Given the description of an element on the screen output the (x, y) to click on. 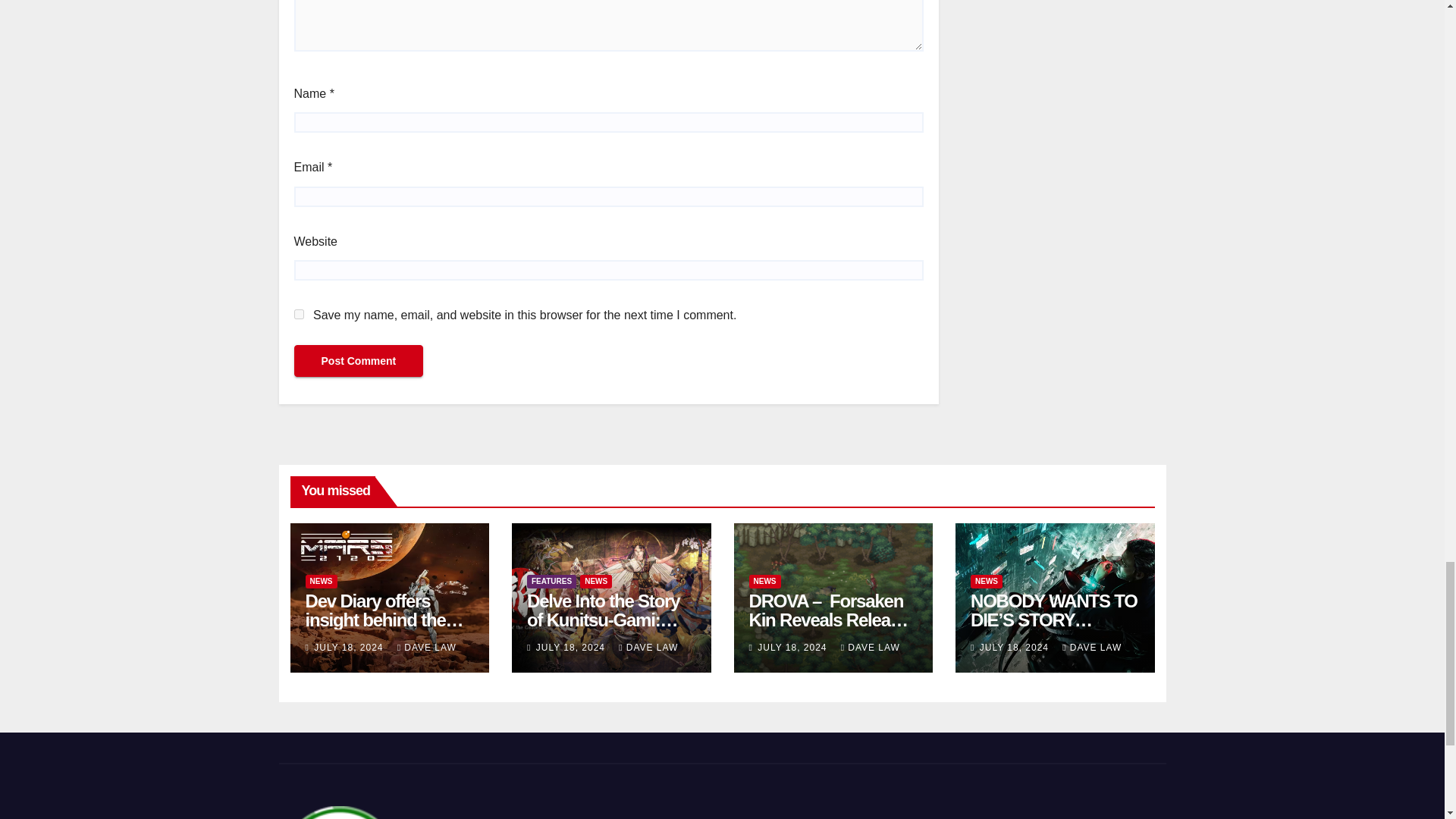
Post Comment (358, 360)
yes (299, 314)
